Given the description of an element on the screen output the (x, y) to click on. 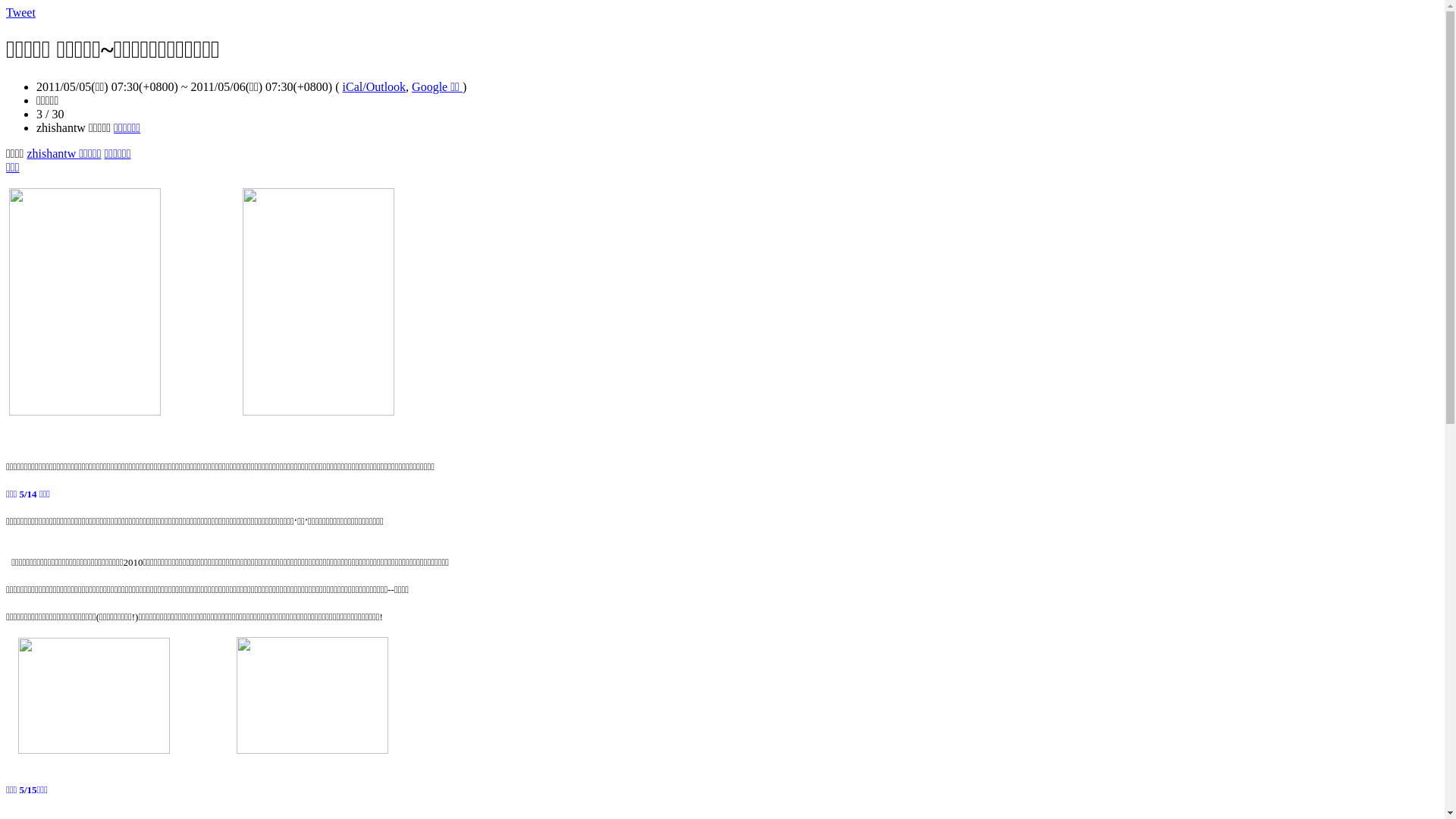
iCal/Outlook Element type: text (374, 86)
Tweet Element type: text (20, 12)
